Given the description of an element on the screen output the (x, y) to click on. 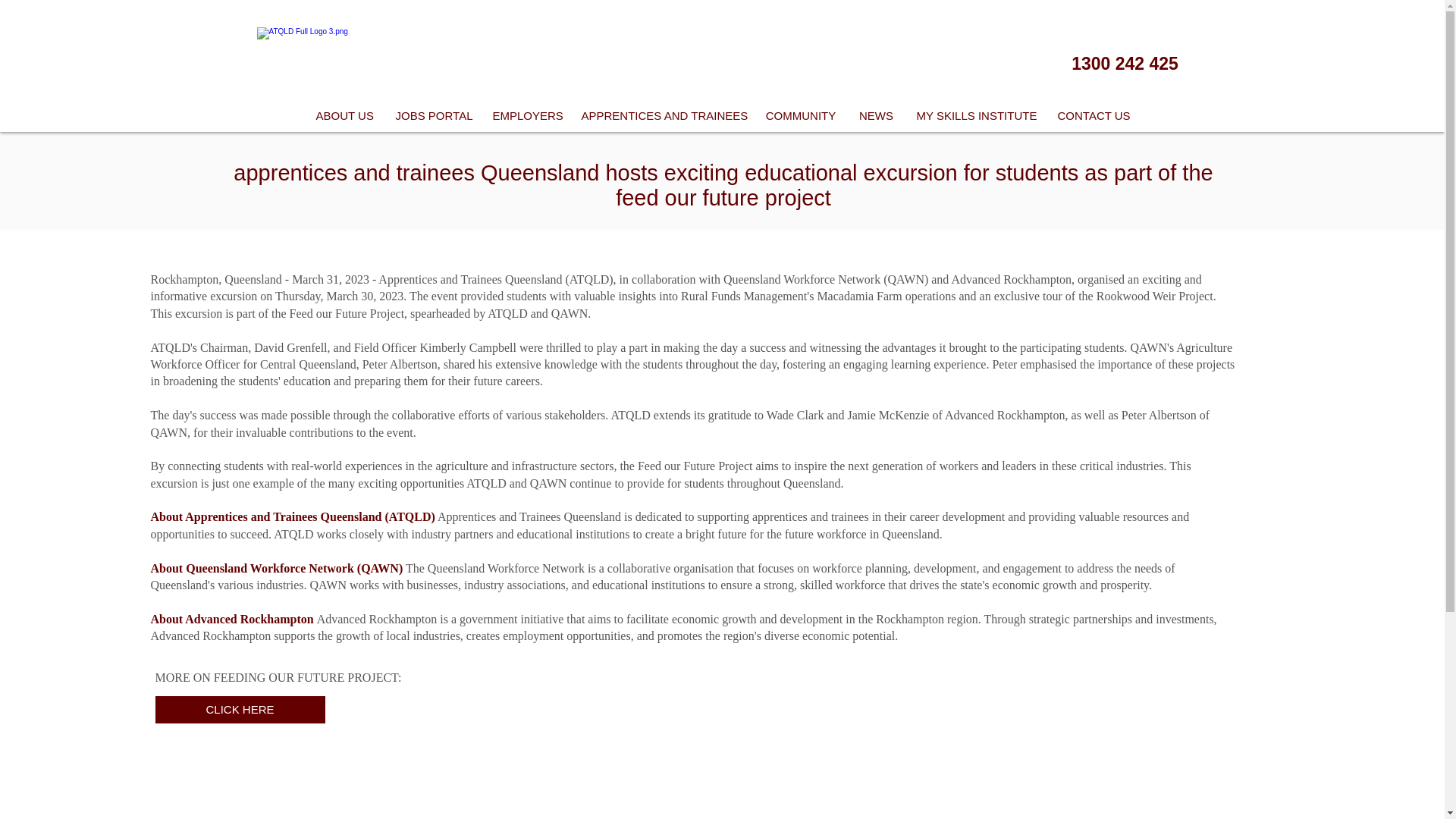
NEWS (876, 115)
CLICK HERE (239, 709)
ABOUT US (344, 115)
CONTACT US (1093, 115)
APPRENTICES AND TRAINEES (662, 115)
EMPLOYERS (524, 115)
JOBS PORTAL (432, 115)
MY SKILLS INSTITUTE (975, 115)
COMMUNITY (800, 115)
